Given the description of an element on the screen output the (x, y) to click on. 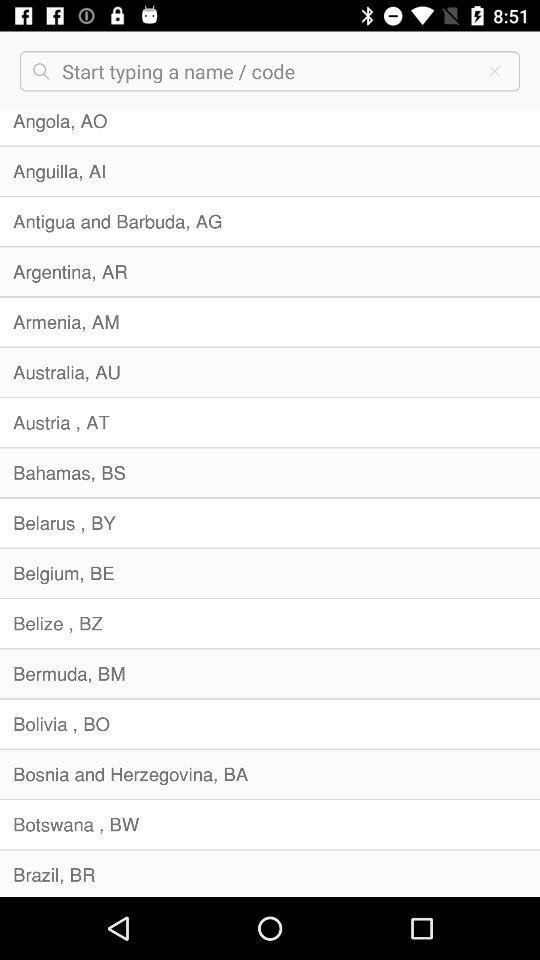
select the item above the anguilla, ai icon (270, 128)
